Given the description of an element on the screen output the (x, y) to click on. 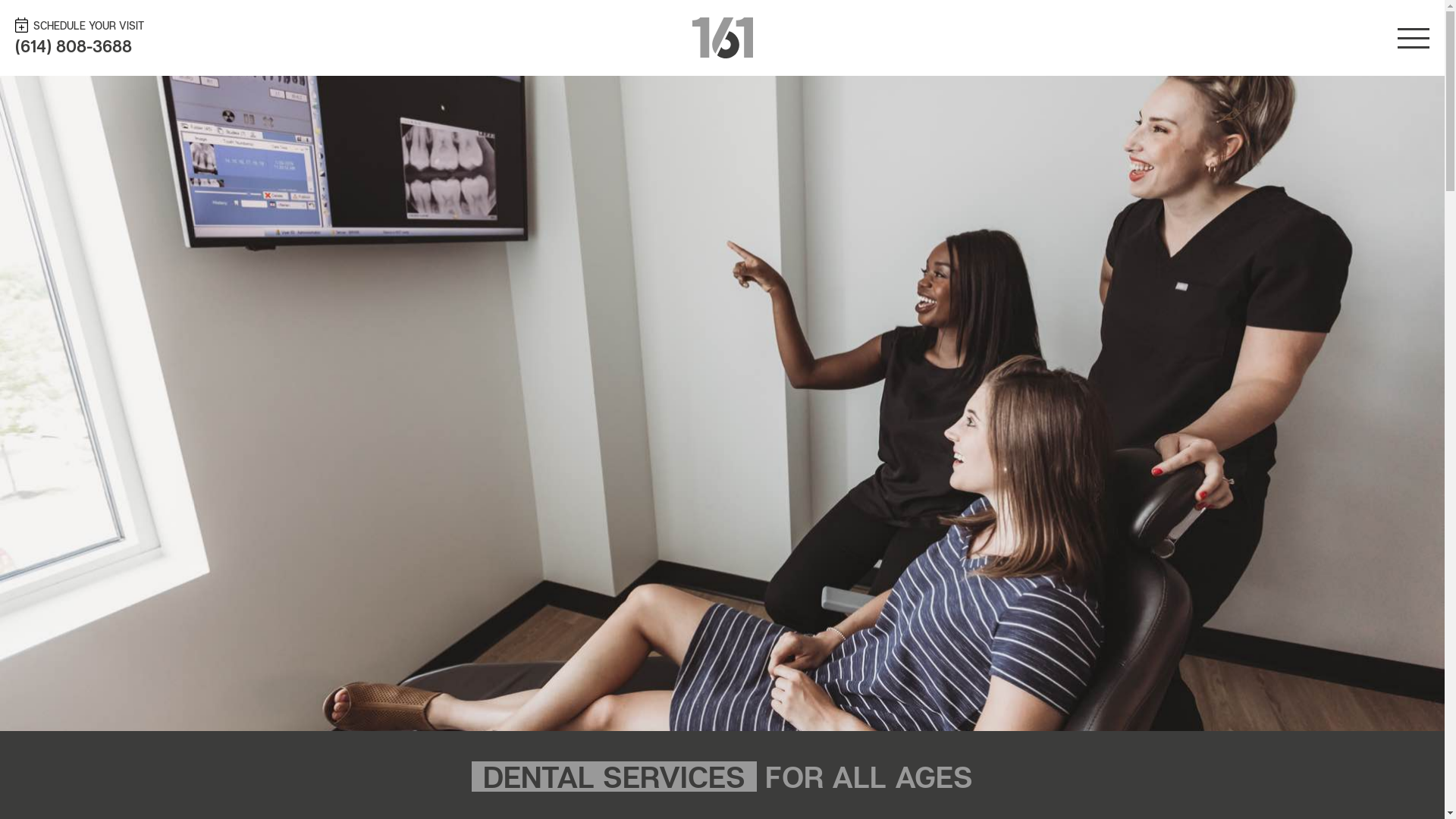
SCHEDULE YOUR VISIT Element type: text (227, 24)
(614) 808-3688 Element type: text (73, 46)
